Given the description of an element on the screen output the (x, y) to click on. 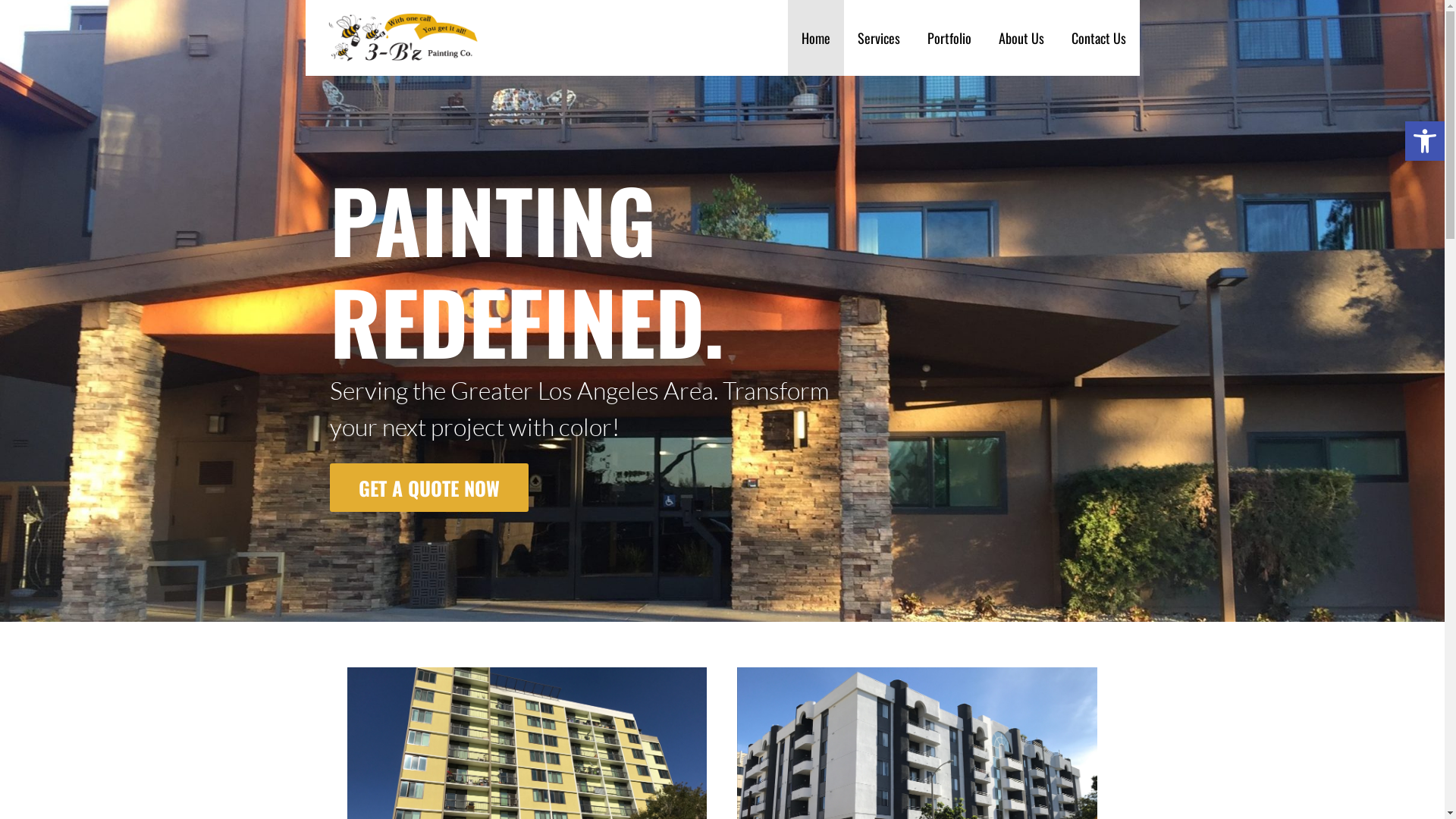
Open toolbar
Accessibility Tools Element type: text (1424, 140)
Portfolio Element type: text (948, 37)
Home Element type: text (815, 37)
3-B'Z PAINTING CO. Element type: text (409, 86)
Contact Us Element type: text (1098, 37)
Services Element type: text (878, 37)
GET A QUOTE NOW Element type: text (428, 487)
About Us Element type: text (1020, 37)
